Given the description of an element on the screen output the (x, y) to click on. 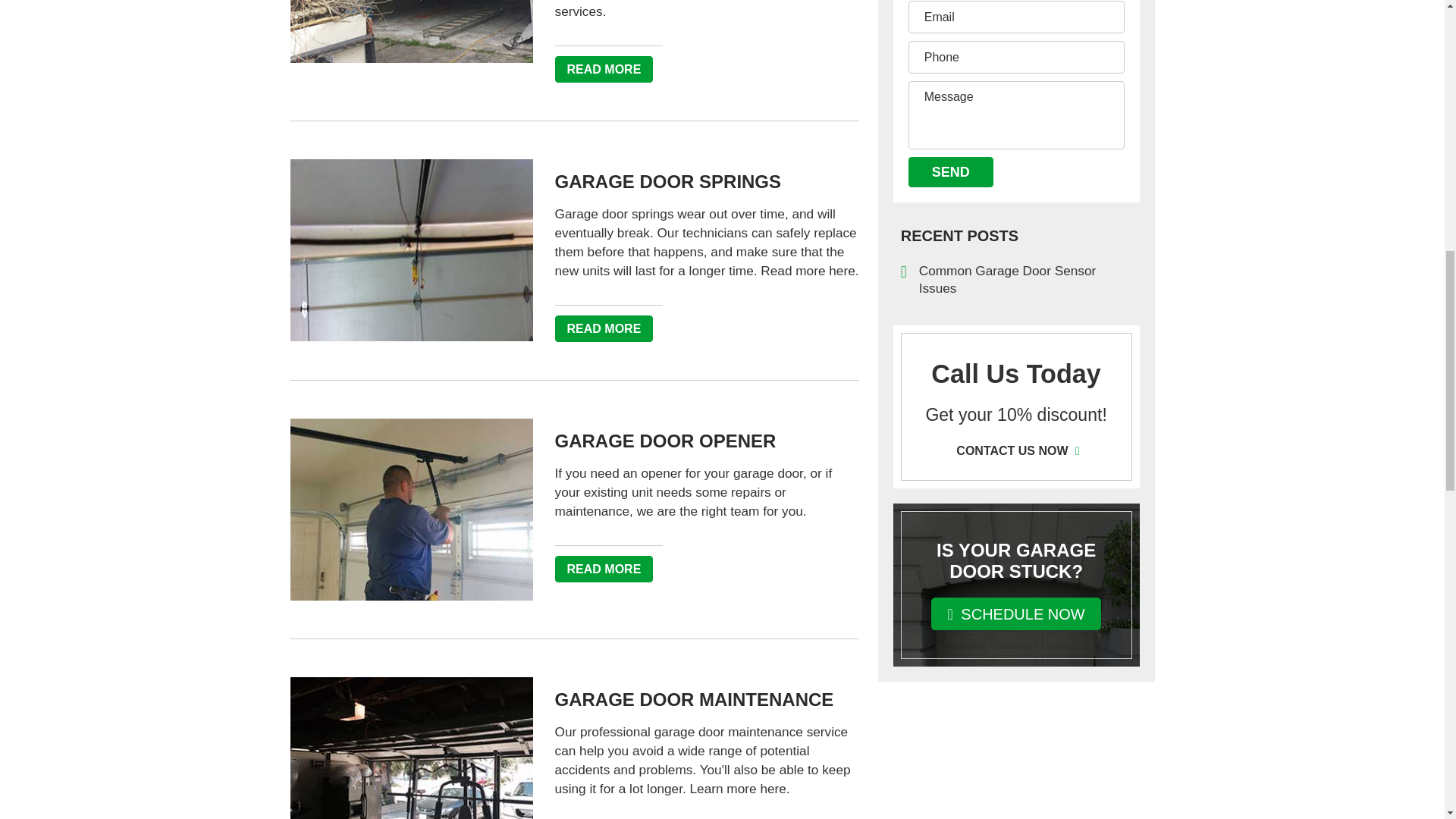
SEND (950, 172)
READ MORE (603, 328)
READ MORE (603, 569)
READ MORE (603, 69)
